Given the description of an element on the screen output the (x, y) to click on. 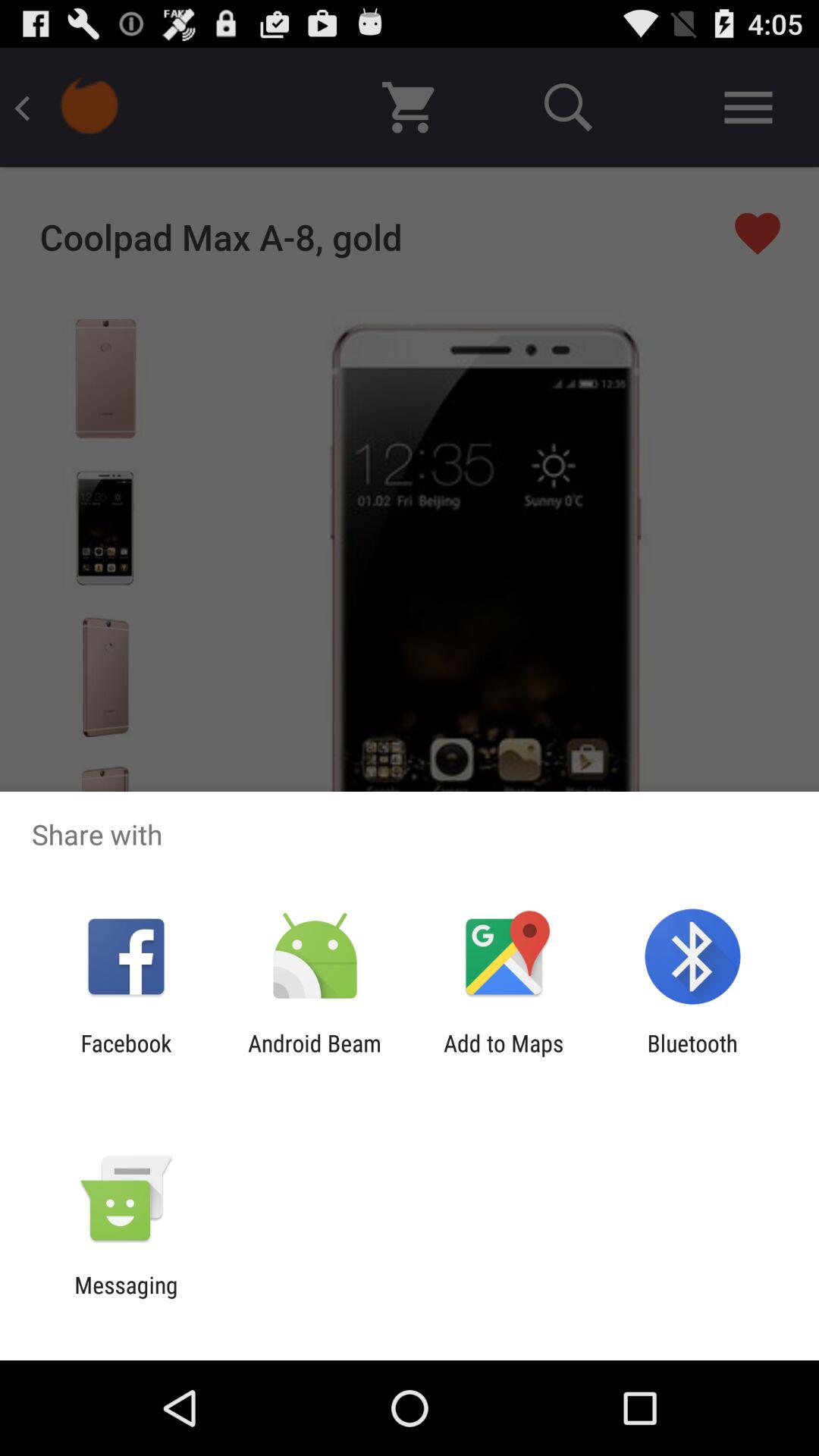
select the icon to the left of android beam (125, 1056)
